Given the description of an element on the screen output the (x, y) to click on. 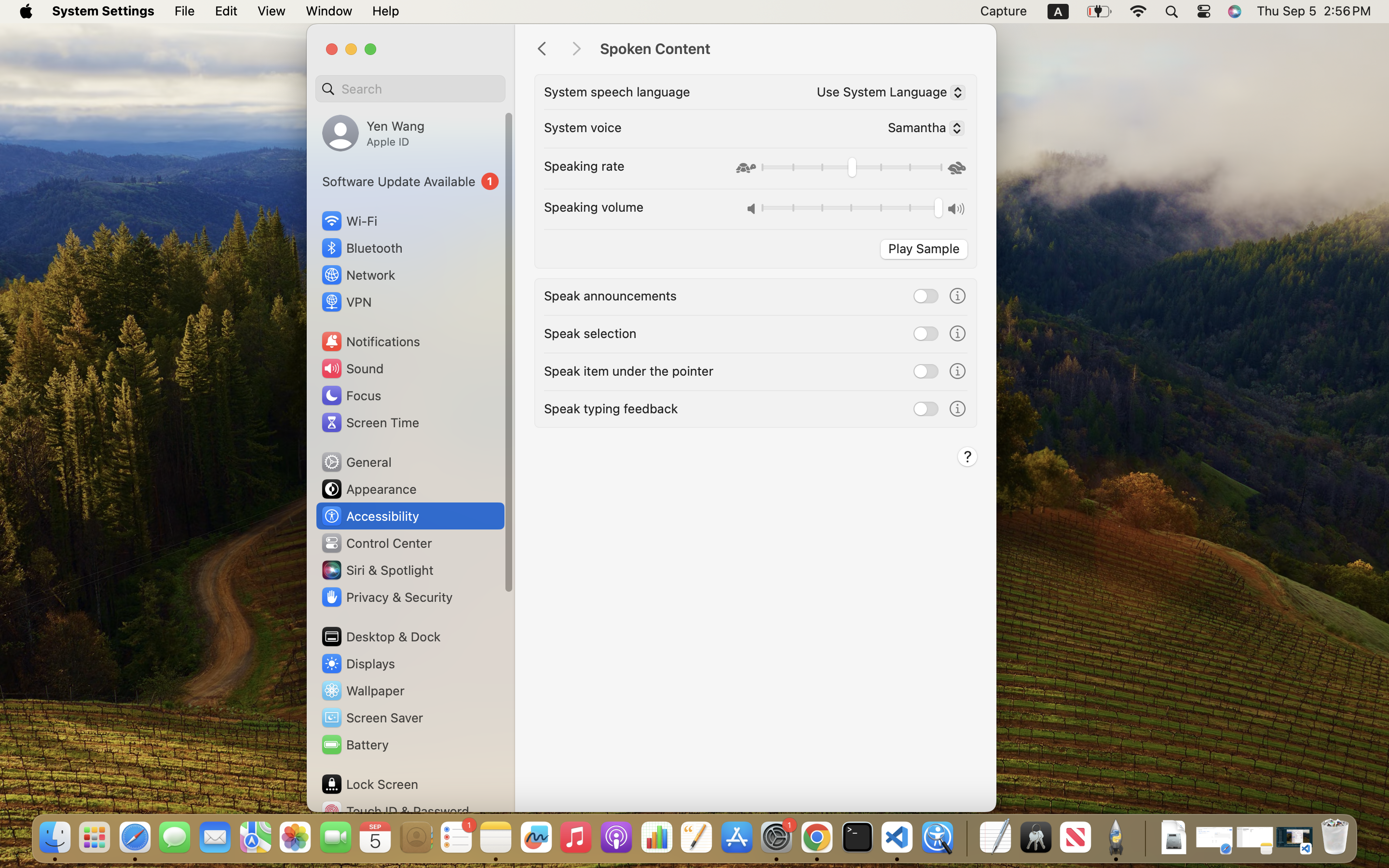
Appearance Element type: AXStaticText (368, 488)
Speaking volume Element type: AXStaticText (593, 206)
VPN Element type: AXStaticText (345, 301)
Samantha Element type: AXPopUpButton (921, 129)
System speech language Element type: AXStaticText (616, 91)
